Given the description of an element on the screen output the (x, y) to click on. 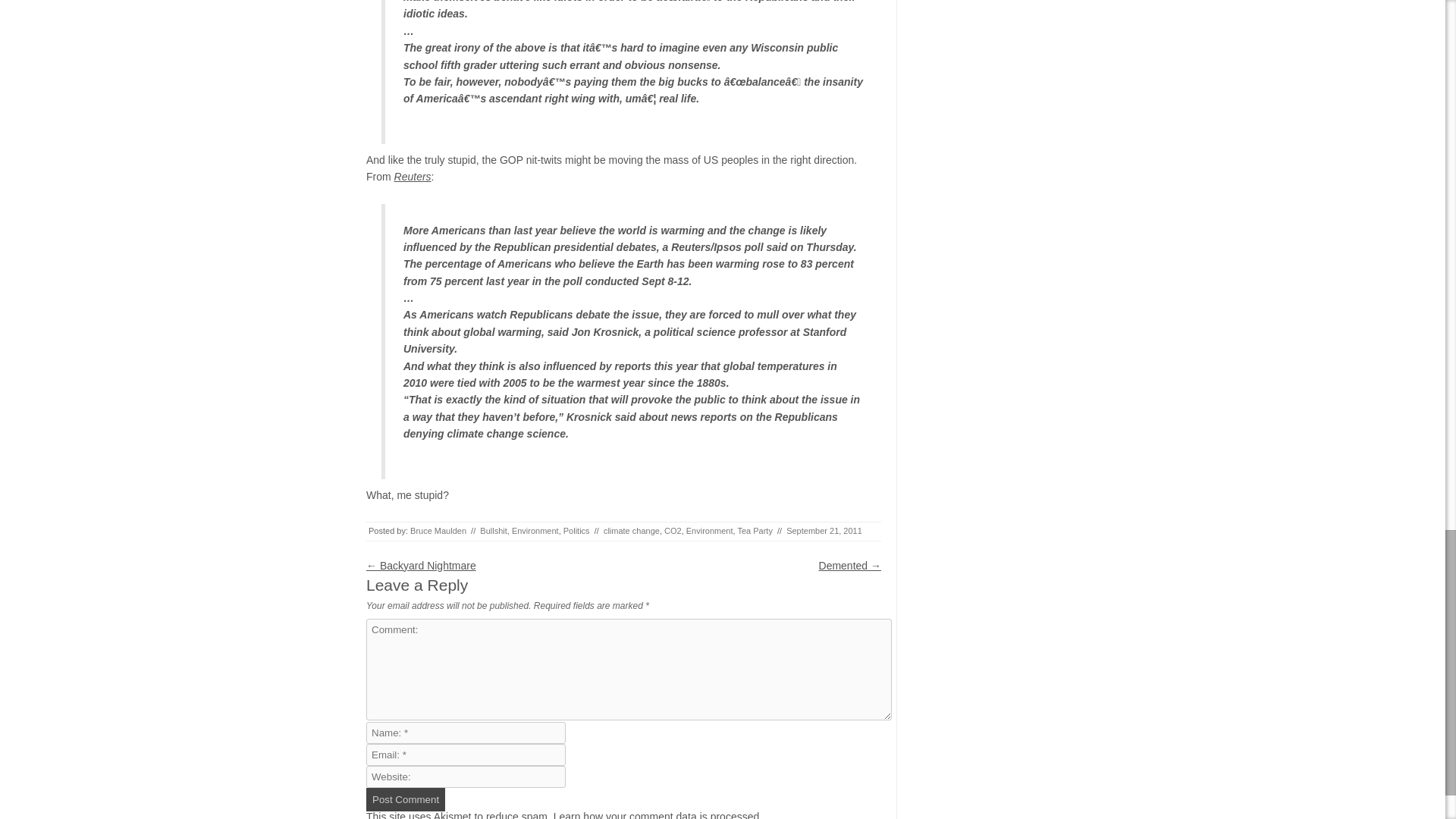
View all posts by Bruce Maulden (437, 530)
Bruce Maulden (437, 530)
climate change (631, 530)
Tea Party (753, 530)
6:21 am (823, 530)
Post Comment (405, 799)
Bullshit (493, 530)
Environment (535, 530)
CO2 (672, 530)
Environment (709, 530)
Post Comment (405, 799)
Politics (576, 530)
Learn how your comment data is processed (656, 814)
September 21, 2011 (823, 530)
Reuters (412, 176)
